Given the description of an element on the screen output the (x, y) to click on. 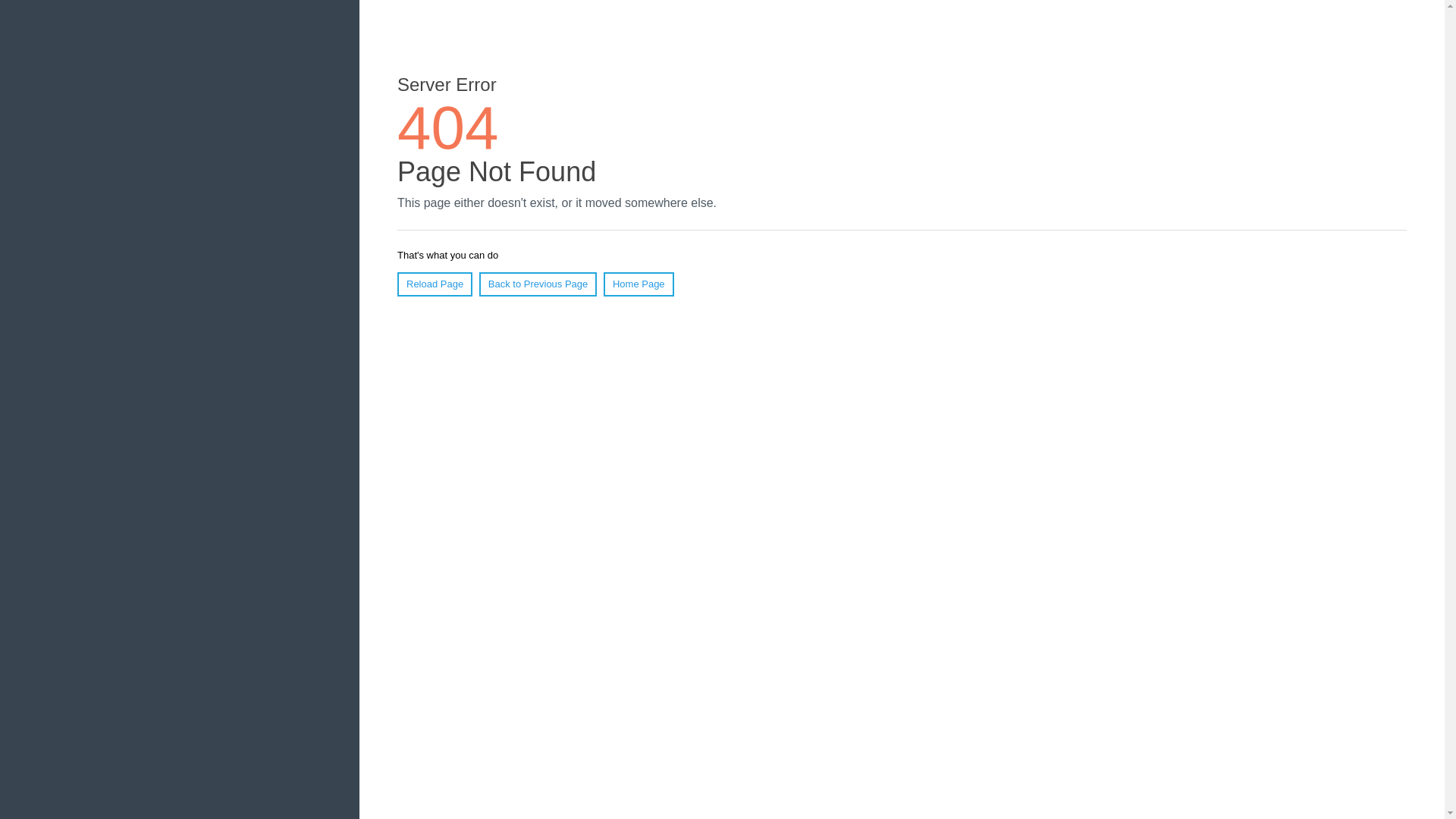
Back to Previous Page Element type: text (538, 284)
Reload Page Element type: text (434, 284)
Home Page Element type: text (638, 284)
